Given the description of an element on the screen output the (x, y) to click on. 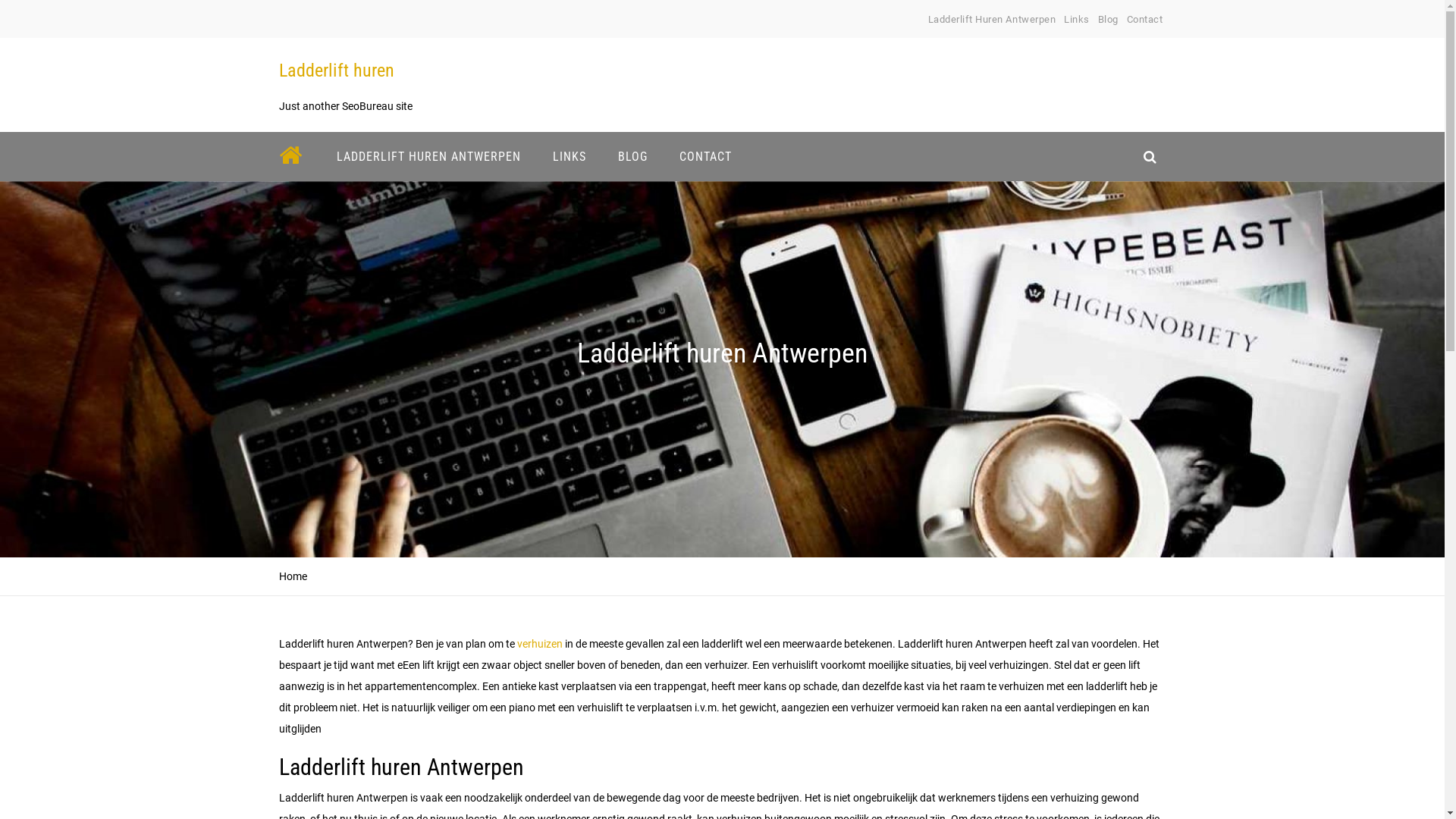
Links Element type: text (1076, 19)
Ladderlift huren Element type: text (336, 70)
search_icon Element type: hover (1148, 156)
CONTACT Element type: text (704, 156)
LINKS Element type: text (569, 156)
verhuizen Element type: text (539, 643)
Blog Element type: text (1108, 19)
LADDERLIFT HUREN ANTWERPEN Element type: text (428, 156)
BLOG Element type: text (632, 156)
Contact Element type: text (1144, 19)
Ladderlift Huren Antwerpen Element type: text (992, 19)
